Given the description of an element on the screen output the (x, y) to click on. 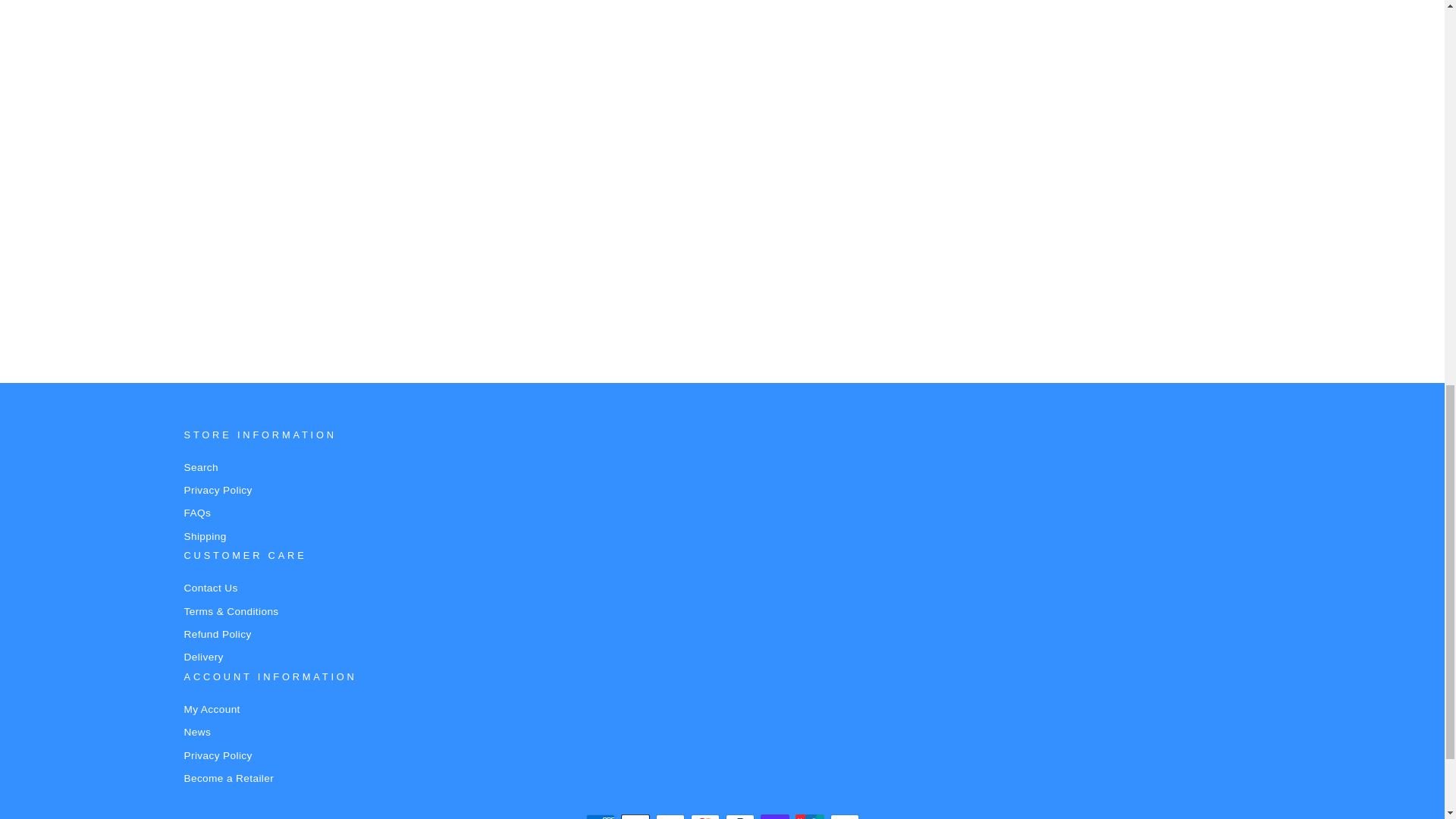
Google Pay (669, 816)
American Express (599, 816)
Shop Pay (774, 816)
Mastercard (704, 816)
Apple Pay (634, 816)
PayPal (739, 816)
Visa (844, 816)
Union Pay (809, 816)
